Given the description of an element on the screen output the (x, y) to click on. 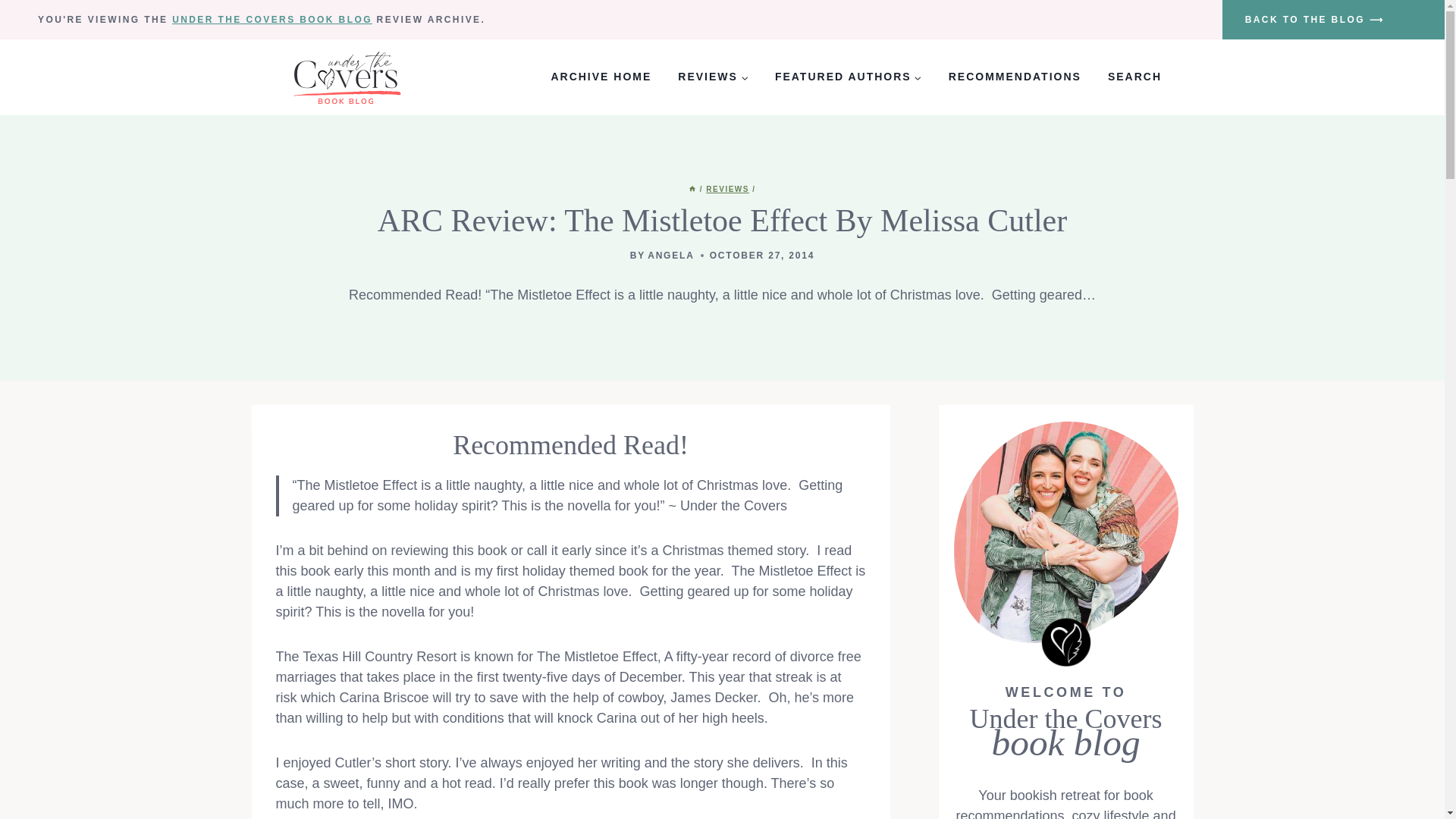
FEATURED AUTHORS (847, 77)
UNDER THE COVERS BOOK BLOG (271, 19)
RECOMMENDATIONS (1014, 77)
REVIEWS (727, 189)
Home (691, 189)
ARCHIVE HOME (601, 77)
REVIEWS (713, 77)
SEARCH (1134, 77)
ANGELA (670, 255)
